Given the description of an element on the screen output the (x, y) to click on. 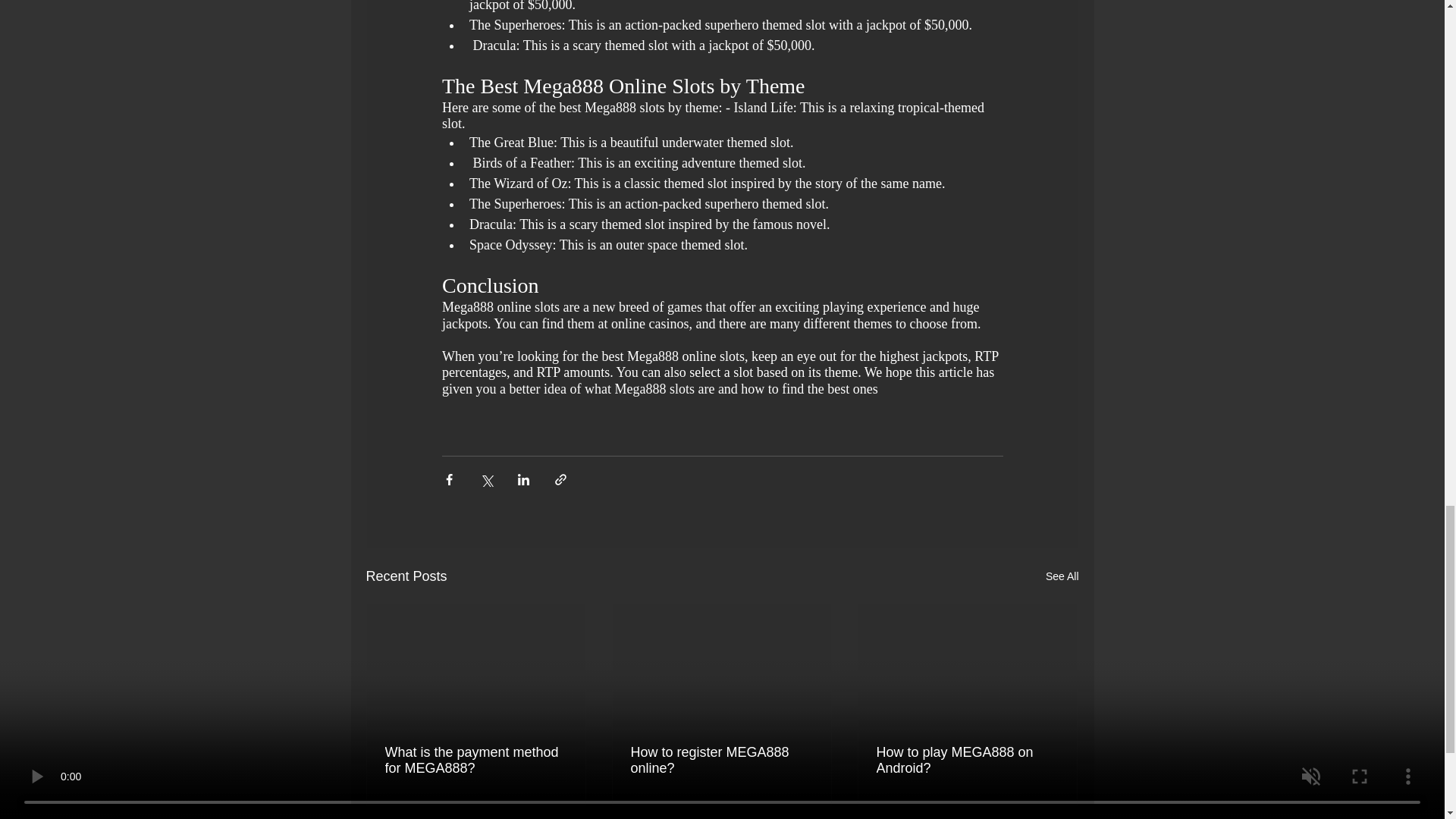
How to register MEGA888 online? (721, 760)
See All (1061, 576)
What is the payment method for MEGA888? (476, 760)
How to play MEGA888 on Android? (967, 760)
